Given the description of an element on the screen output the (x, y) to click on. 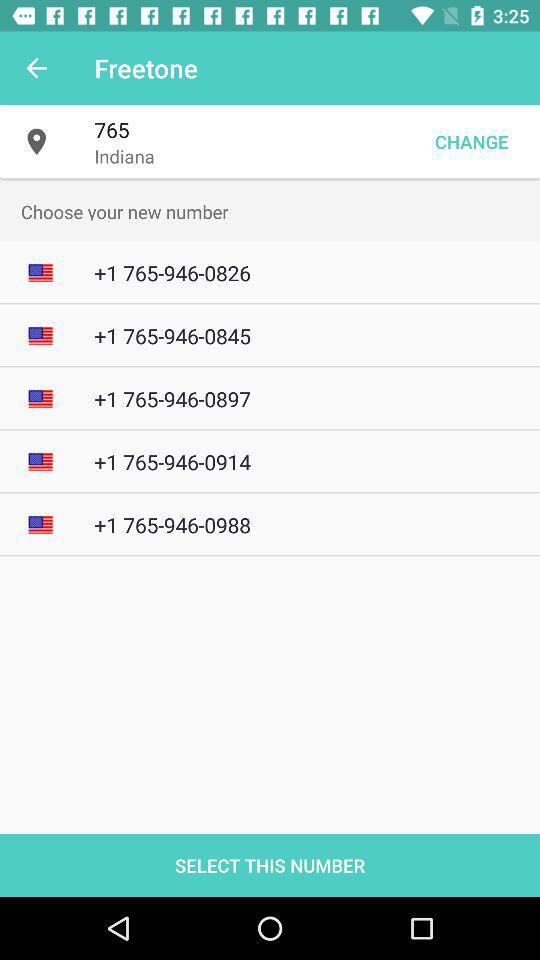
tap the change item (471, 141)
